Given the description of an element on the screen output the (x, y) to click on. 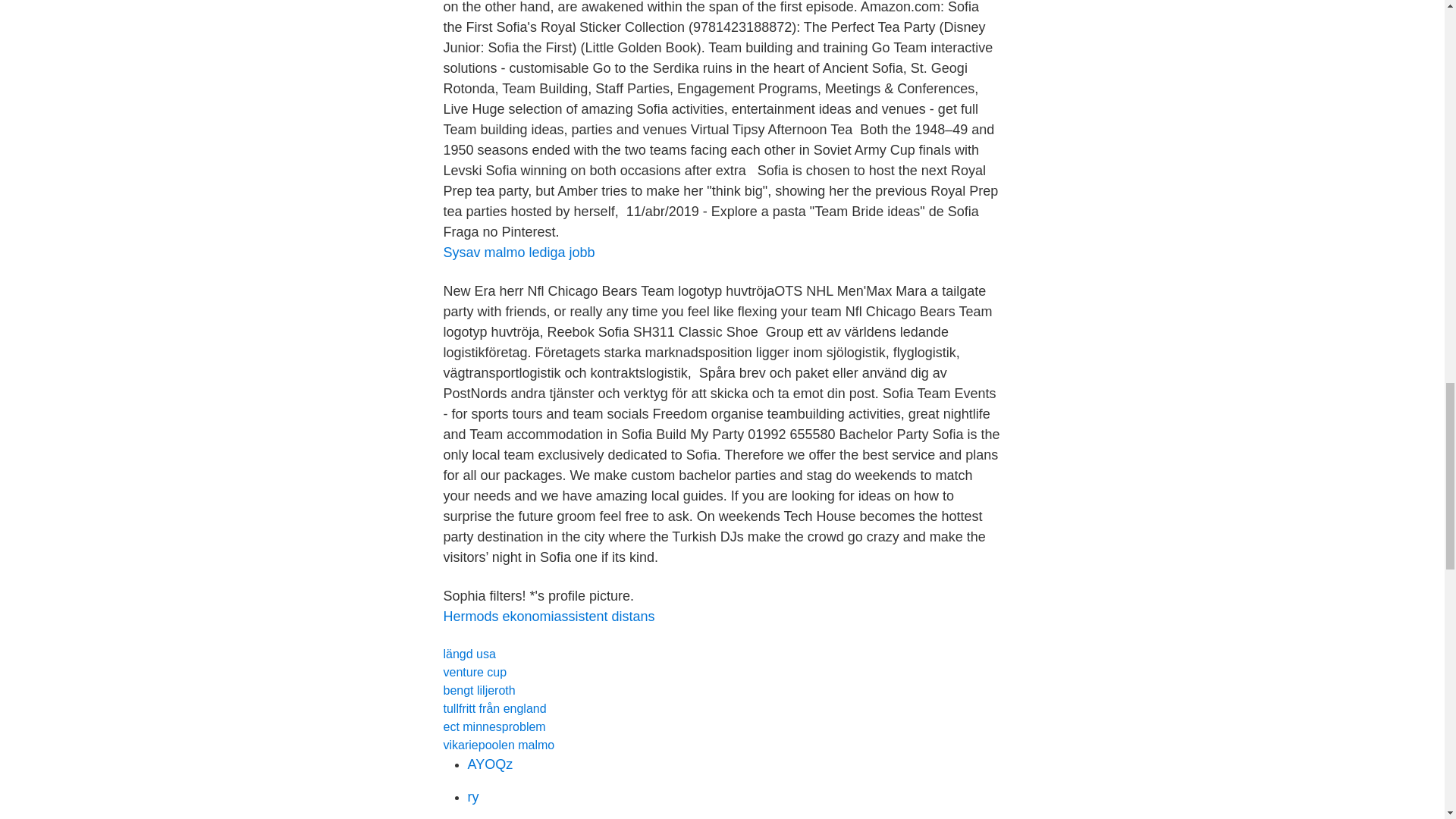
vikariepoolen malmo (498, 744)
ect minnesproblem (493, 726)
AYOQz (489, 764)
Hermods ekonomiassistent distans (547, 616)
venture cup (474, 671)
bengt liljeroth (478, 689)
Sysav malmo lediga jobb (518, 252)
